Given the description of an element on the screen output the (x, y) to click on. 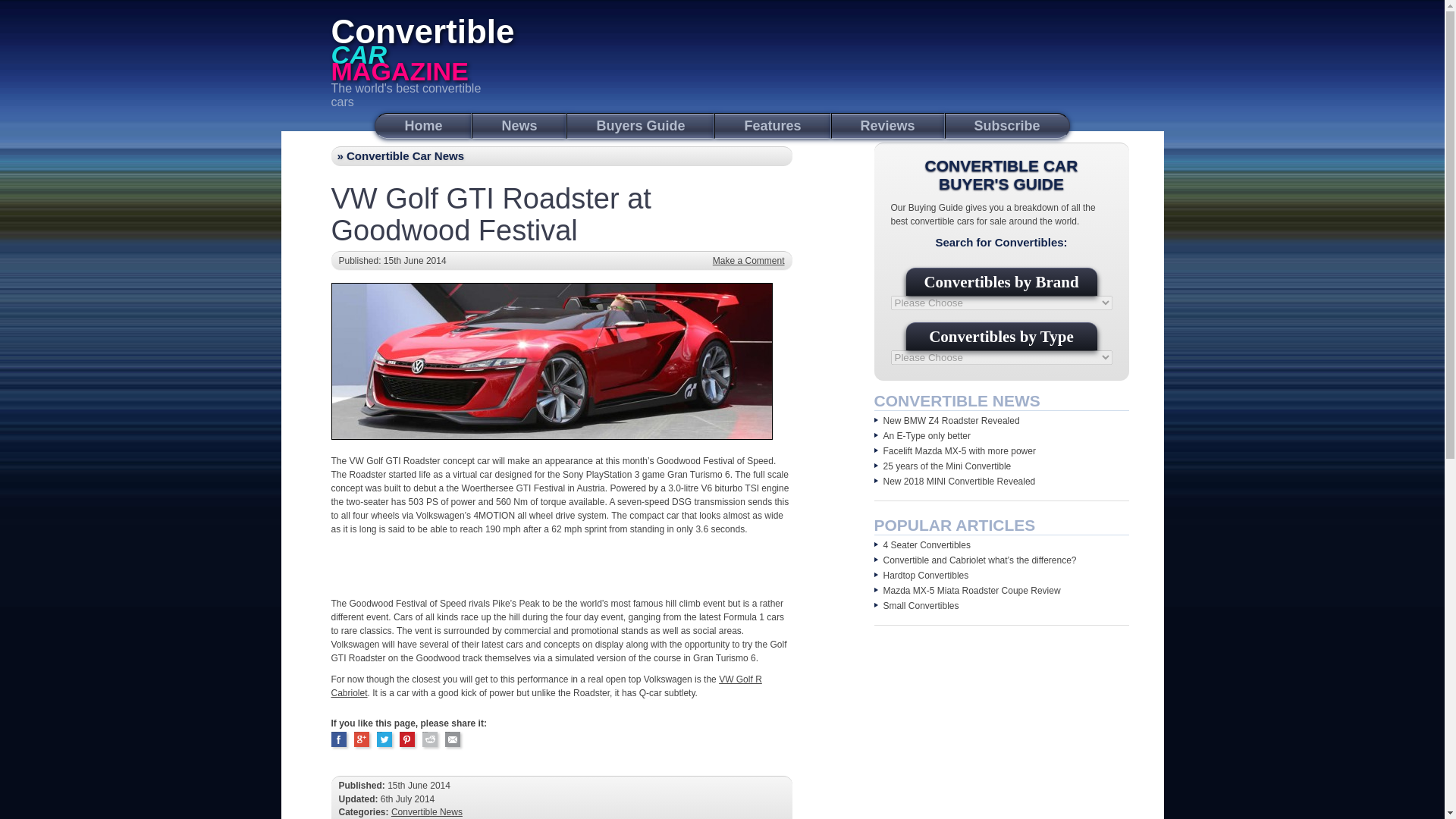
4 Seater Convertibles (925, 544)
VW Golf GTI Roadster at Goodwood Festival (490, 208)
VW Golf R Cabriolet (545, 686)
Share on Reddit (429, 739)
Four Seat Convertibles (925, 544)
Pin it on Pintrest (405, 739)
Pin it on Pintrest (405, 739)
Share on Facebook (338, 739)
Share on Facebook (338, 739)
Convertible News (427, 811)
